Given the description of an element on the screen output the (x, y) to click on. 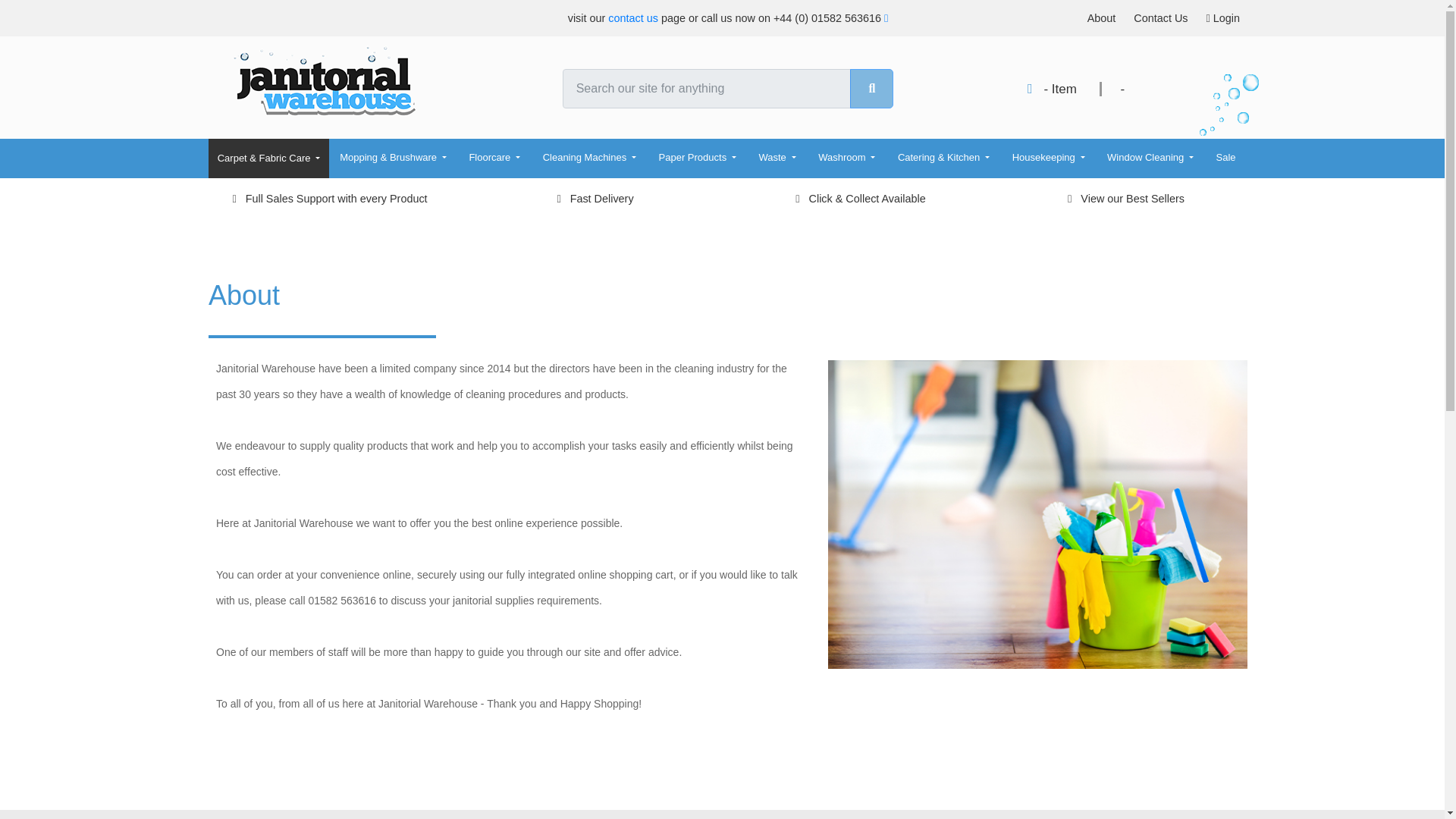
About (1101, 18)
contact us (633, 18)
Login (1222, 18)
Contact Us (1161, 18)
Floorcare (494, 157)
- Item - (1081, 88)
